Given the description of an element on the screen output the (x, y) to click on. 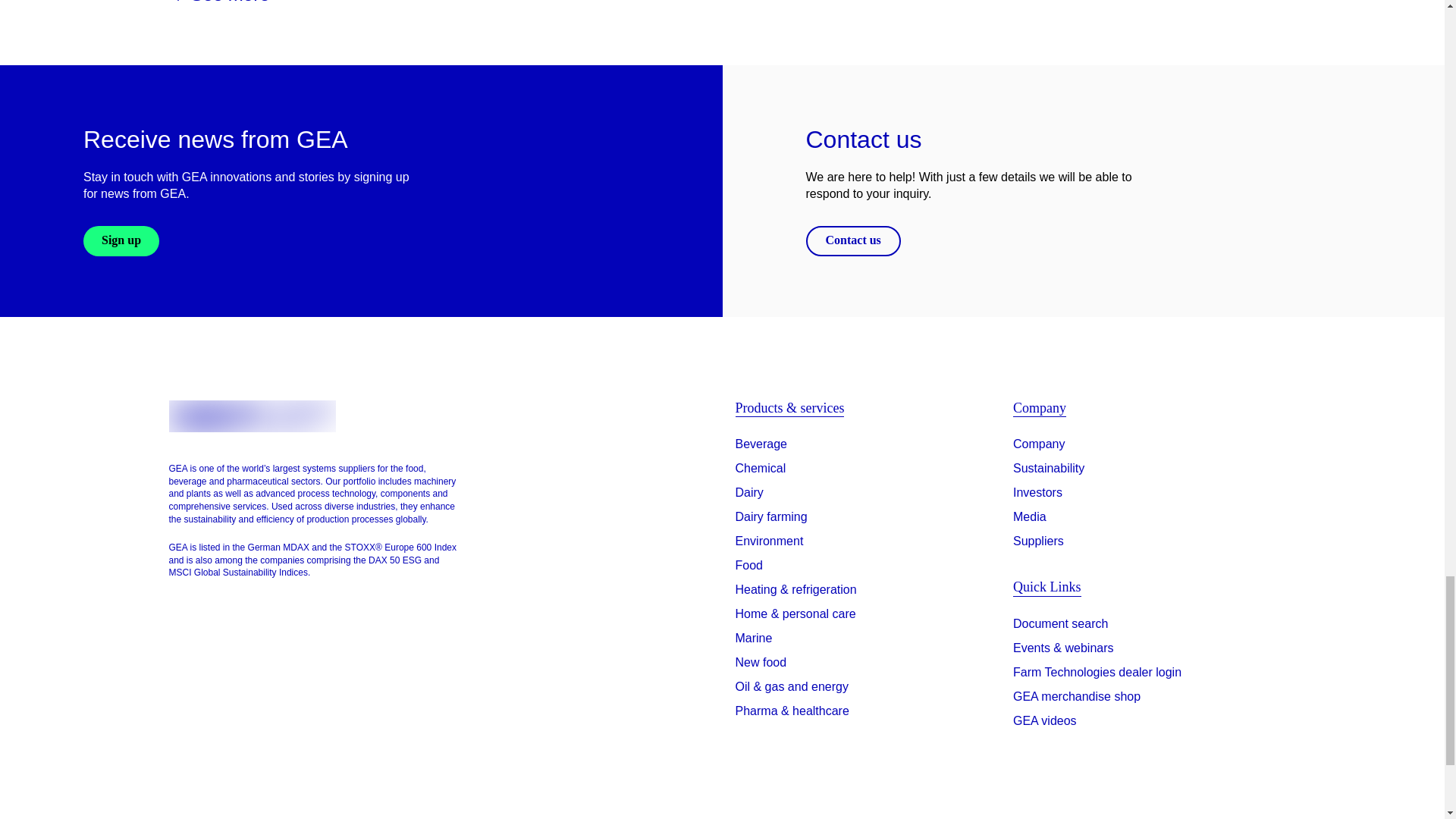
Suppliers (1038, 541)
Sustainability (1048, 468)
Company (1038, 443)
Investors (1037, 493)
Media (1029, 516)
